Given the description of an element on the screen output the (x, y) to click on. 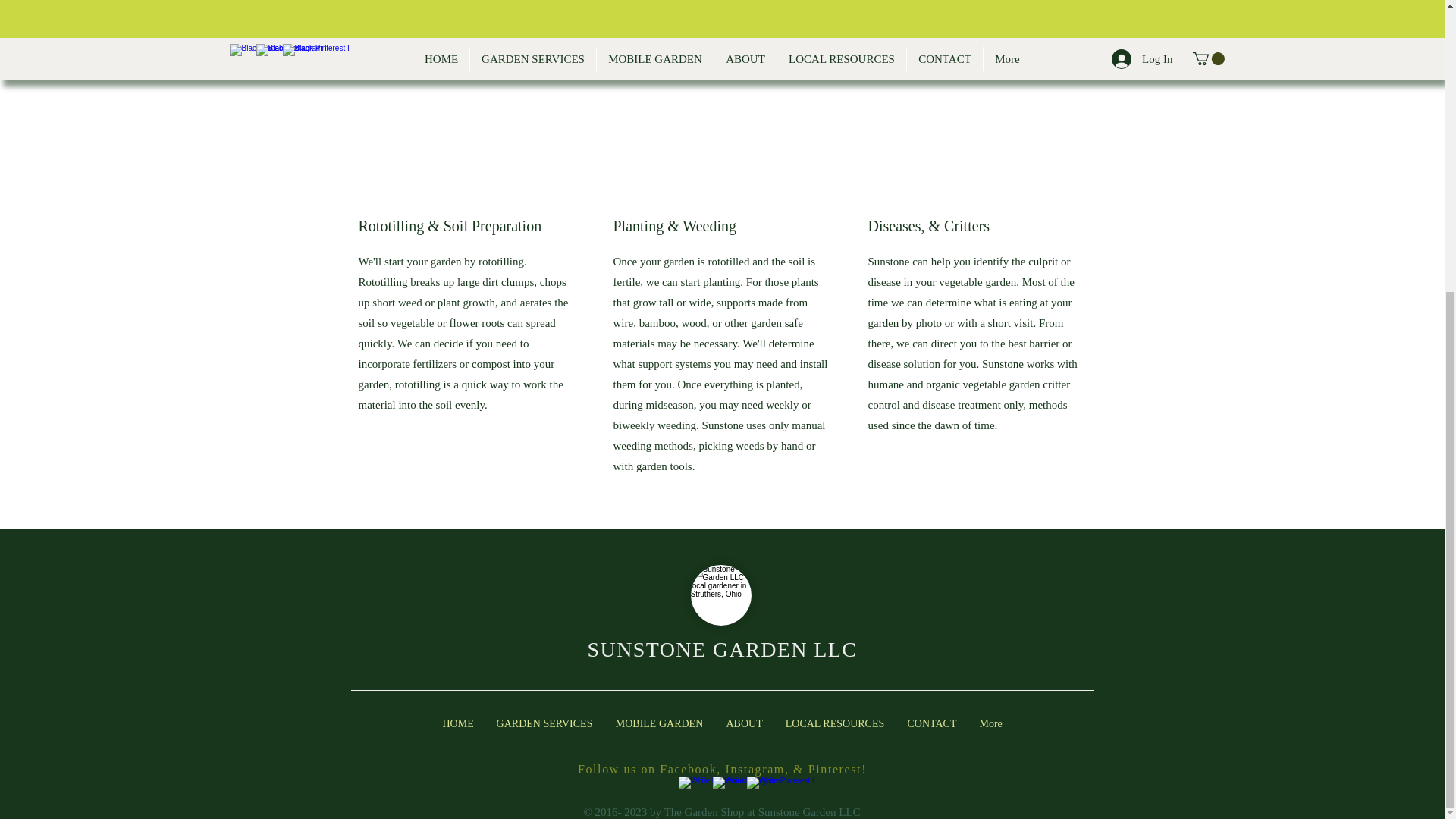
HOME (457, 723)
GARDEN SERVICES (544, 723)
ABOUT (743, 723)
SUNSTONE GARDEN LLC (722, 649)
MOBILE GARDEN (659, 723)
LOCAL RESOURCES (834, 723)
CONTACT (932, 723)
